Given the description of an element on the screen output the (x, y) to click on. 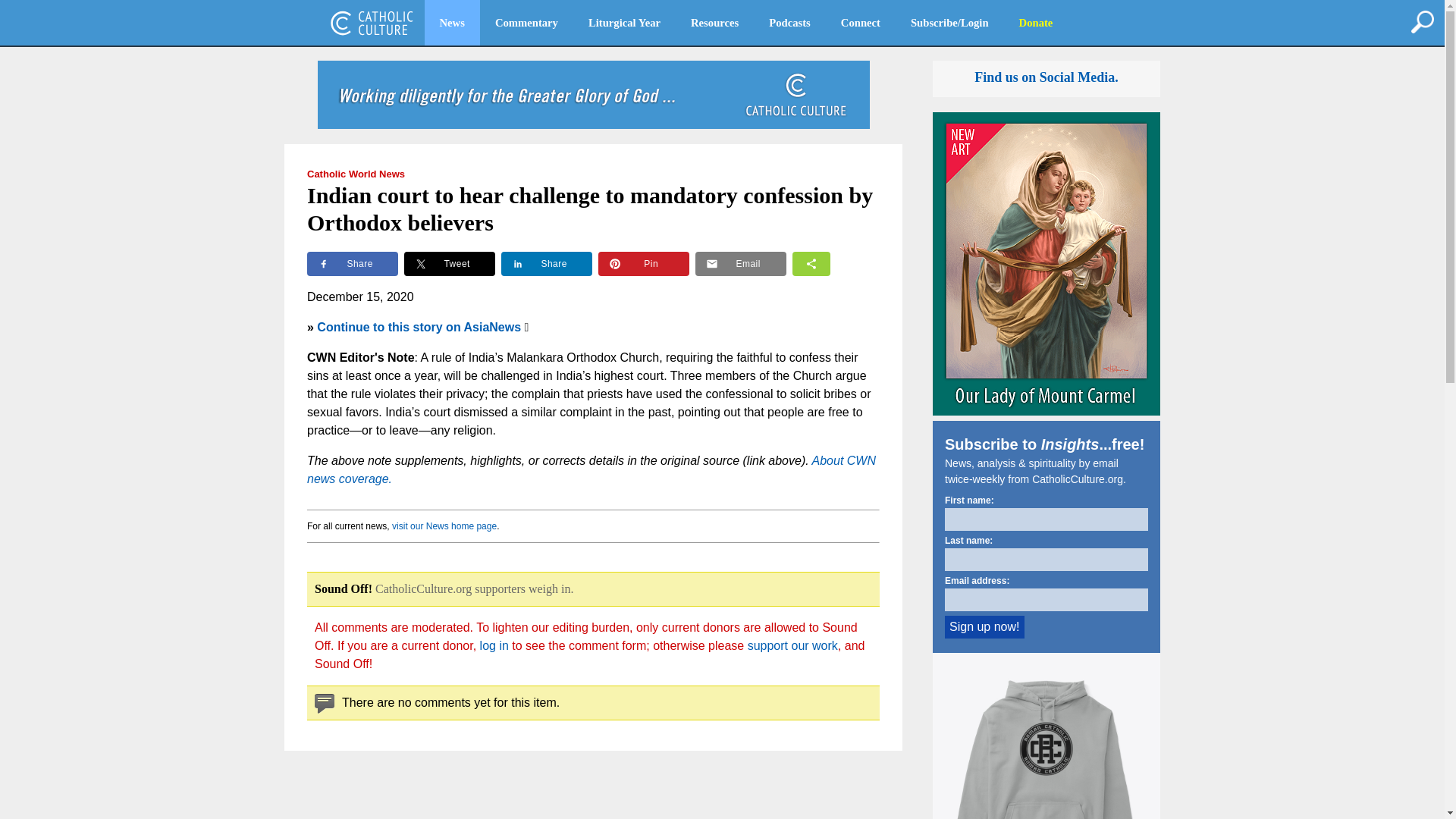
Sign up now! (984, 626)
Liturgical Year (624, 22)
Commentary (526, 22)
Resources (714, 22)
CatholicCulture.org (371, 22)
Podcasts (789, 22)
News (452, 22)
